Given the description of an element on the screen output the (x, y) to click on. 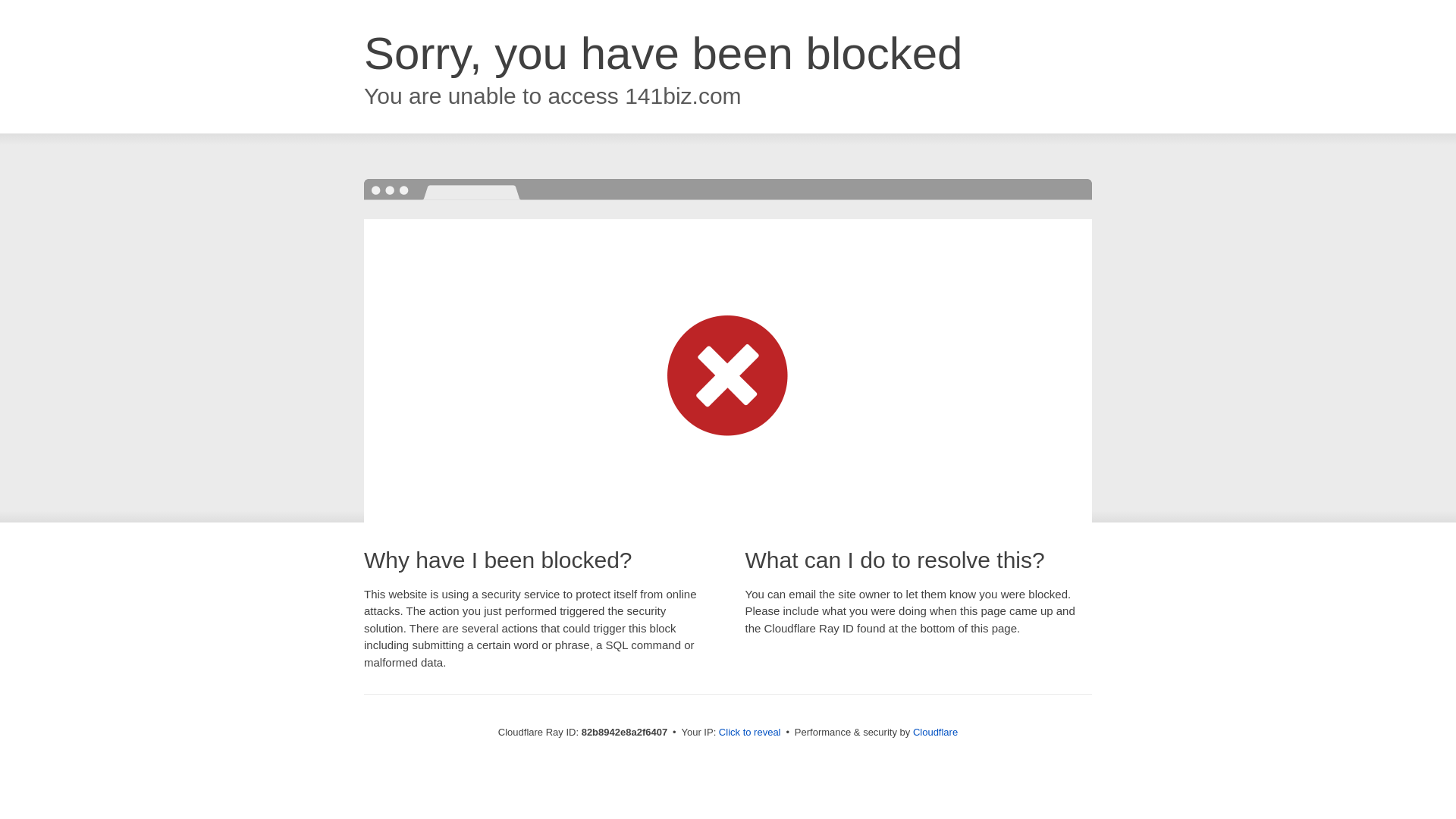
Click to reveal Element type: text (749, 732)
Cloudflare Element type: text (935, 731)
